Given the description of an element on the screen output the (x, y) to click on. 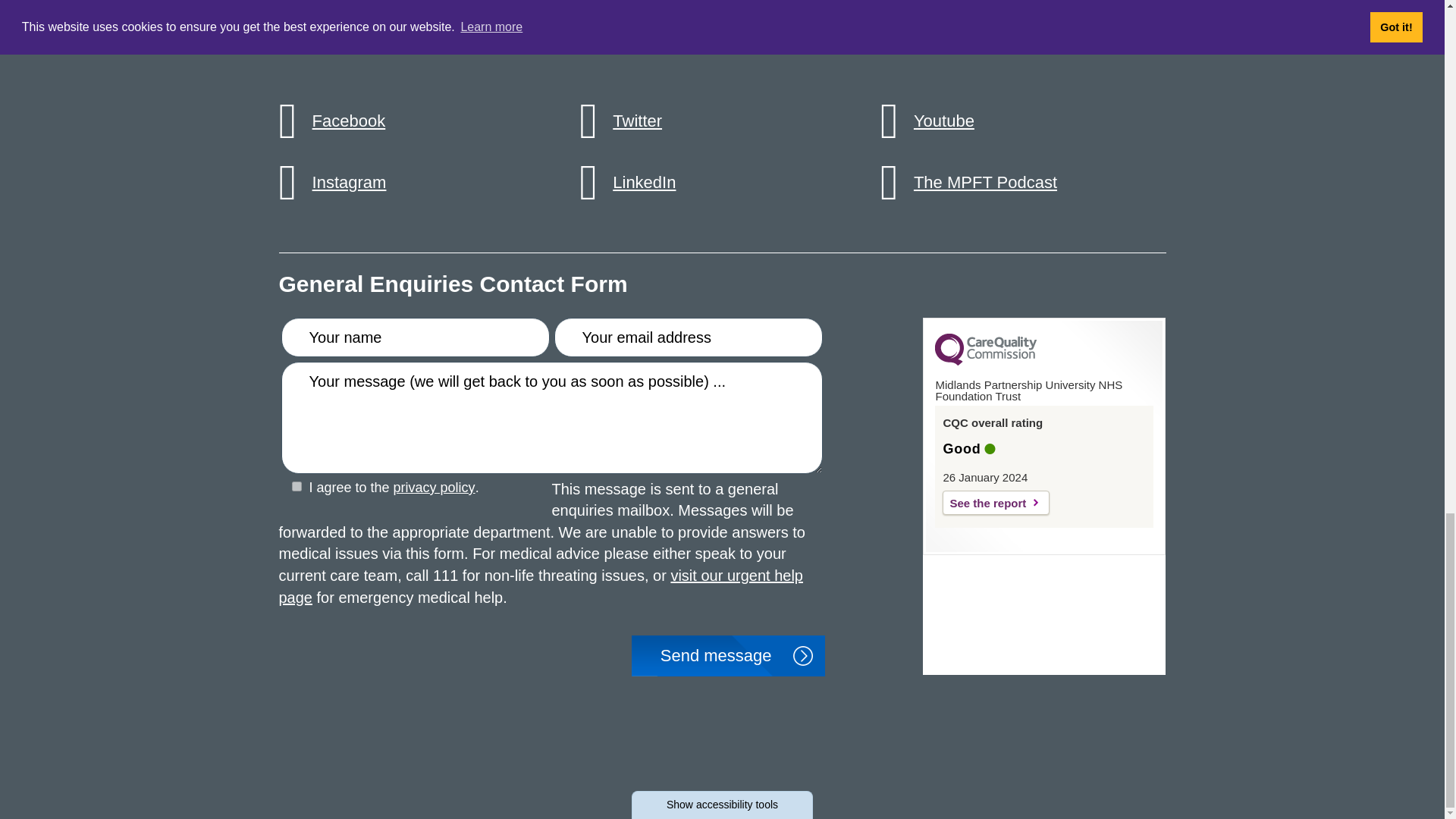
1 (296, 486)
privacy policy (296, 486)
CQC Logo (985, 361)
